Given the description of an element on the screen output the (x, y) to click on. 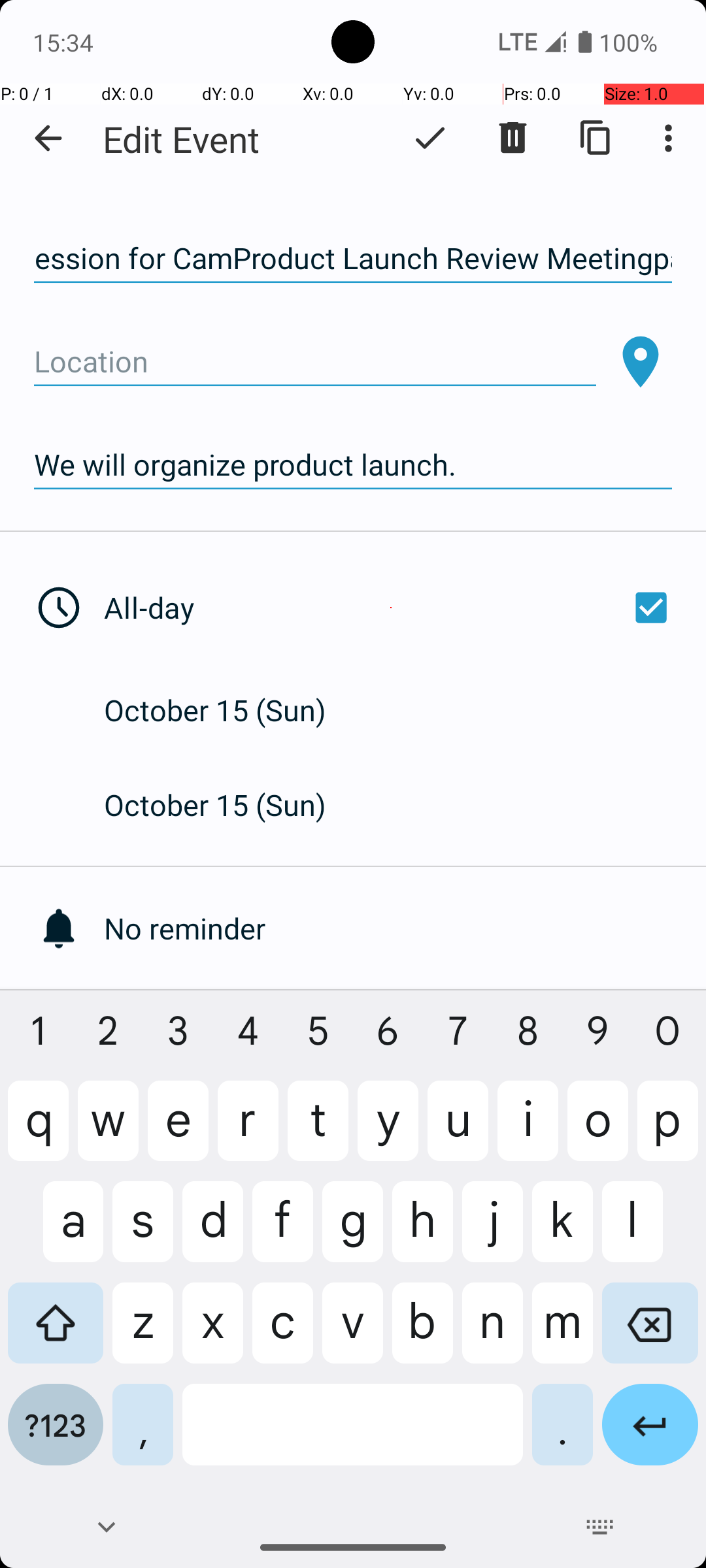
Review session for CamProduct Launch Review Meetingpaign Element type: android.widget.EditText (352, 258)
We will organize product launch. Element type: android.widget.EditText (352, 465)
